Given the description of an element on the screen output the (x, y) to click on. 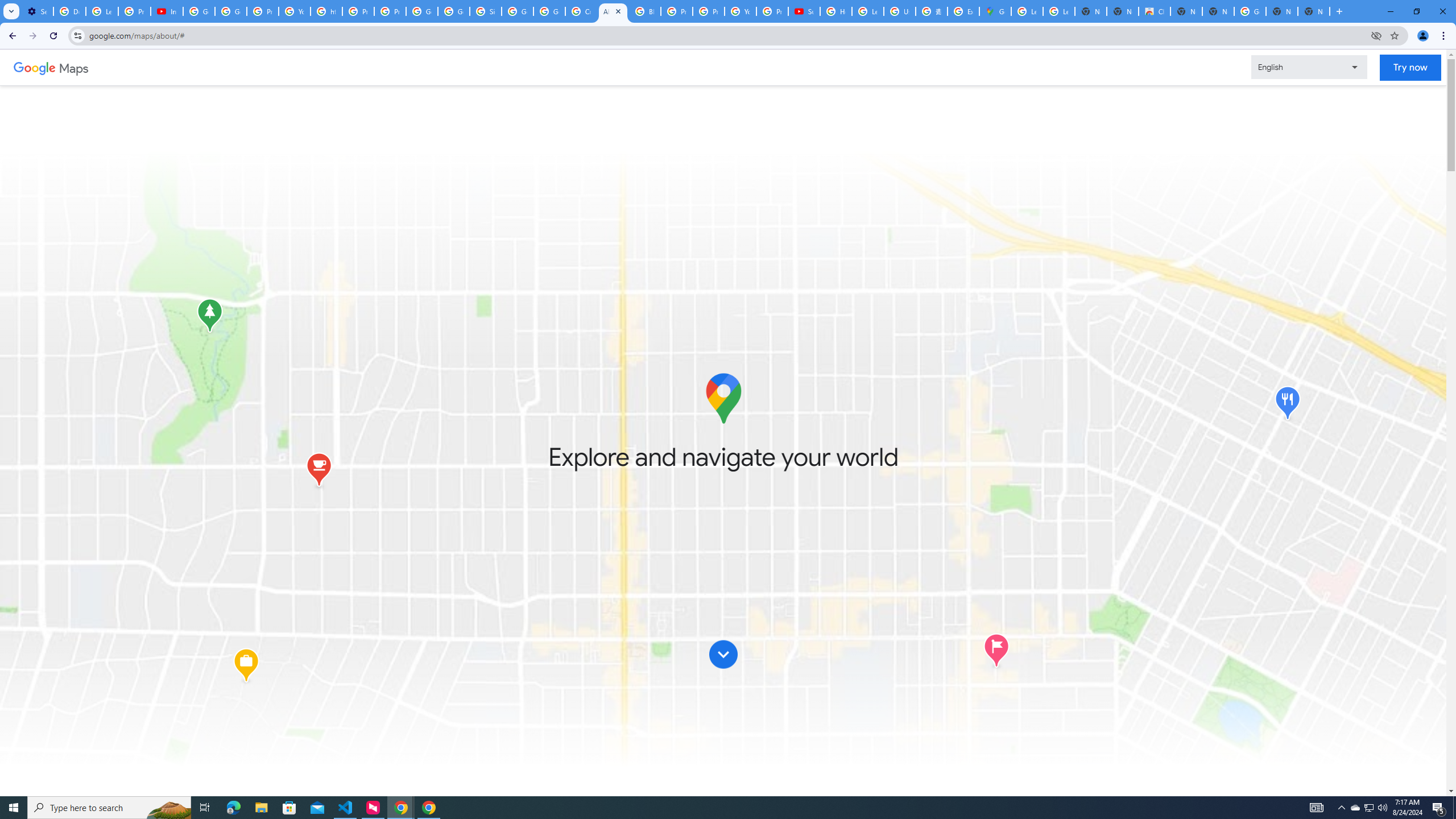
Sign in - Google Accounts (485, 11)
Try now (1409, 67)
Google Account Help (198, 11)
Introduction | Google Privacy Policy - YouTube (166, 11)
Privacy Help Center - Policies Help (708, 11)
Privacy Help Center - Policies Help (676, 11)
